Given the description of an element on the screen output the (x, y) to click on. 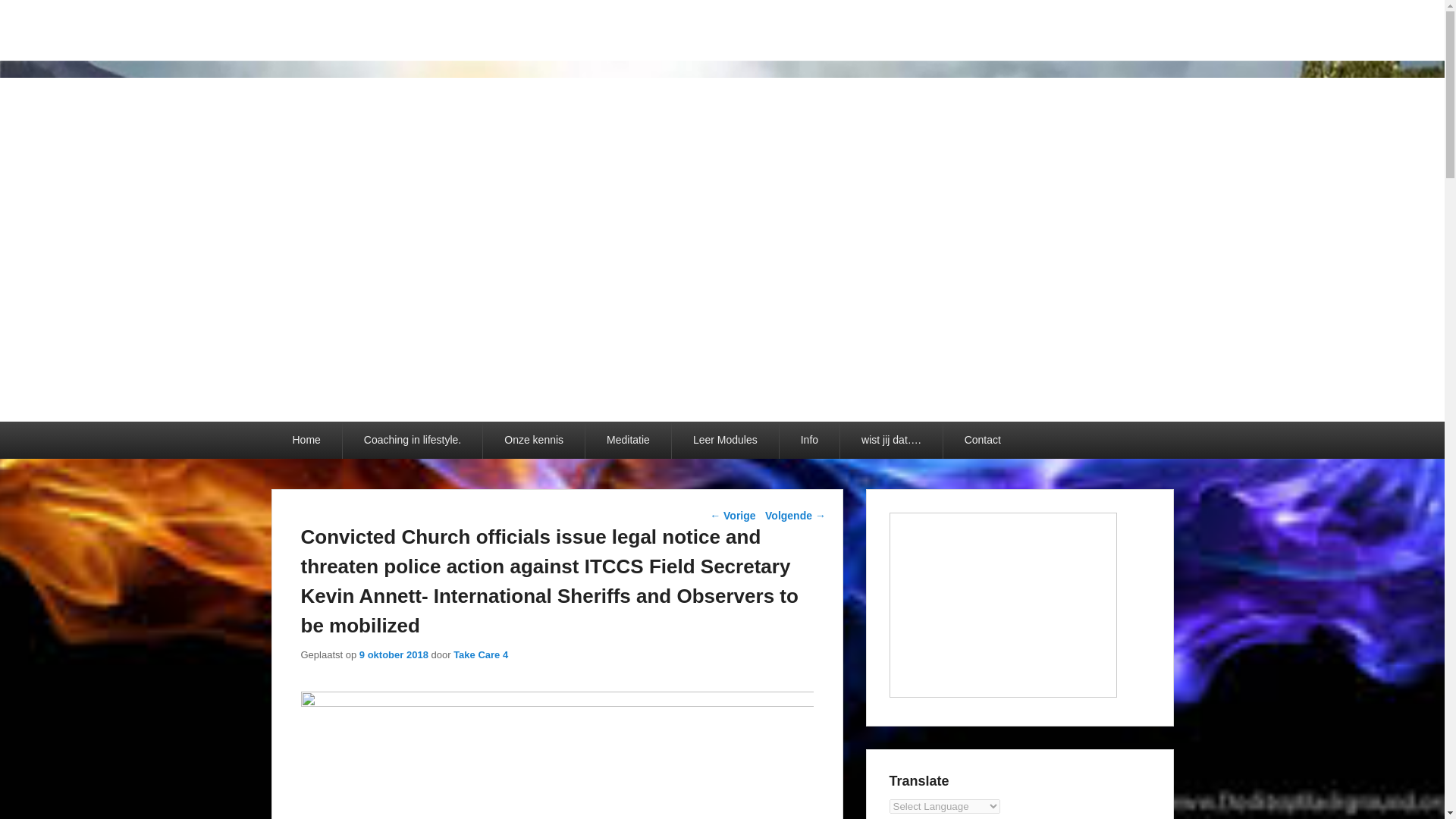
Home (306, 439)
Take care 4 (364, 48)
Onze kennis (534, 439)
Alle berichten tonen van Take Care 4 (480, 654)
Info (809, 439)
Coaching in lifestyle. (411, 439)
Meditatie (628, 439)
Take care 4 (364, 48)
06:13 (393, 654)
Leer Modules (724, 439)
